Given the description of an element on the screen output the (x, y) to click on. 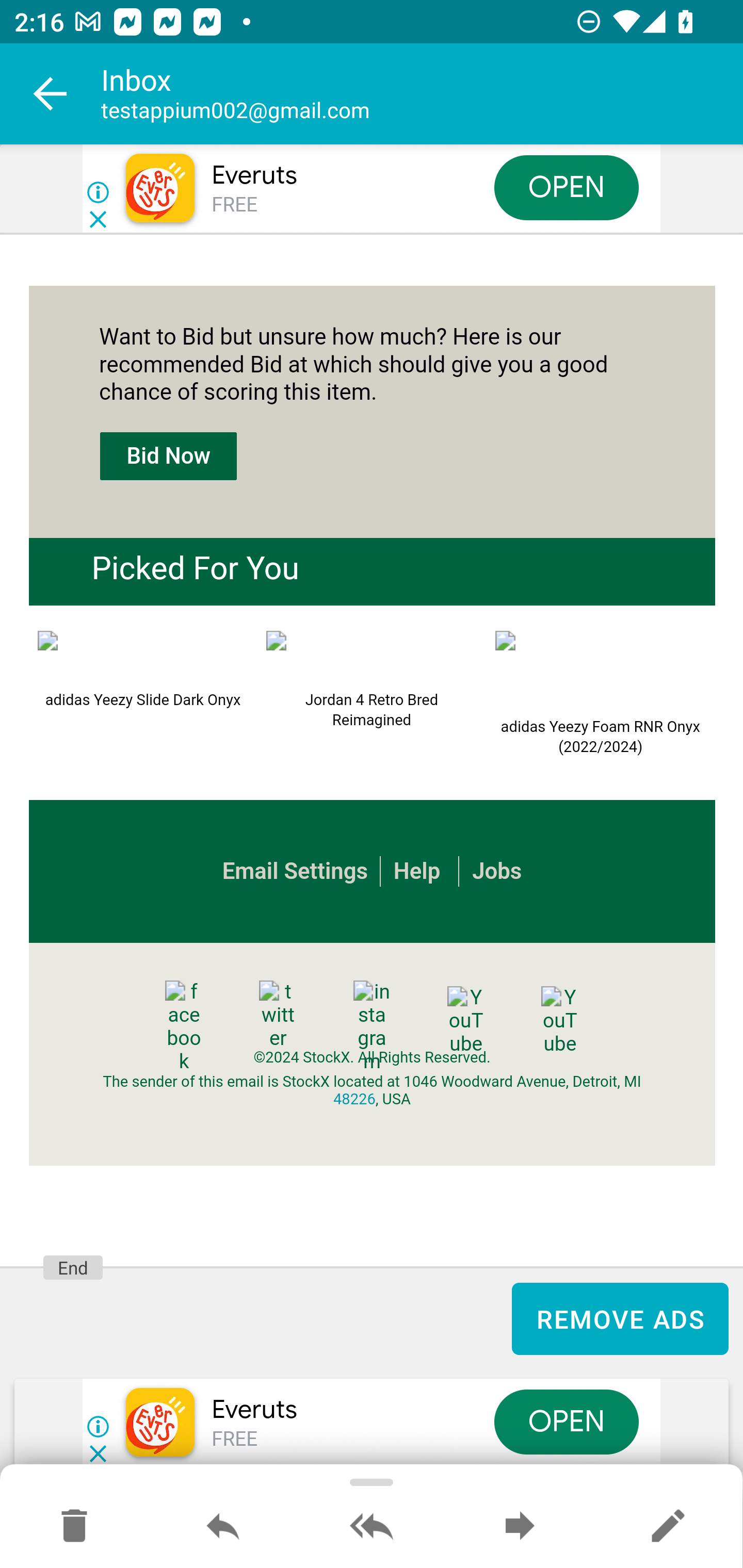
Navigate up (50, 93)
Inbox testappium002@gmail.com (422, 93)
OPEN (566, 187)
Everuts (253, 175)
FREE (234, 204)
Bid Now (168, 457)
Picked For You (194, 569)
adidas Yeezy Slide Dark Onyx (142, 658)
Jordan 4 Retro Bred Reimagined (371, 658)
adidas Yeezy Foam RNR Onyx (2022/2024) (599, 671)
Email Settings (295, 871)
Help (416, 871)
Jobs (497, 871)
facebook (183, 1027)
twitter (277, 1016)
instagram (371, 1027)
YouTube (465, 1022)
YouTube (559, 1022)
48226 (354, 1099)
REMOVE ADS (619, 1318)
OPEN (566, 1422)
Everuts (253, 1409)
FREE (234, 1438)
Move to Deleted (74, 1527)
Reply (222, 1527)
Reply all (371, 1527)
Forward (519, 1527)
Reply as new (667, 1527)
